Given the description of an element on the screen output the (x, y) to click on. 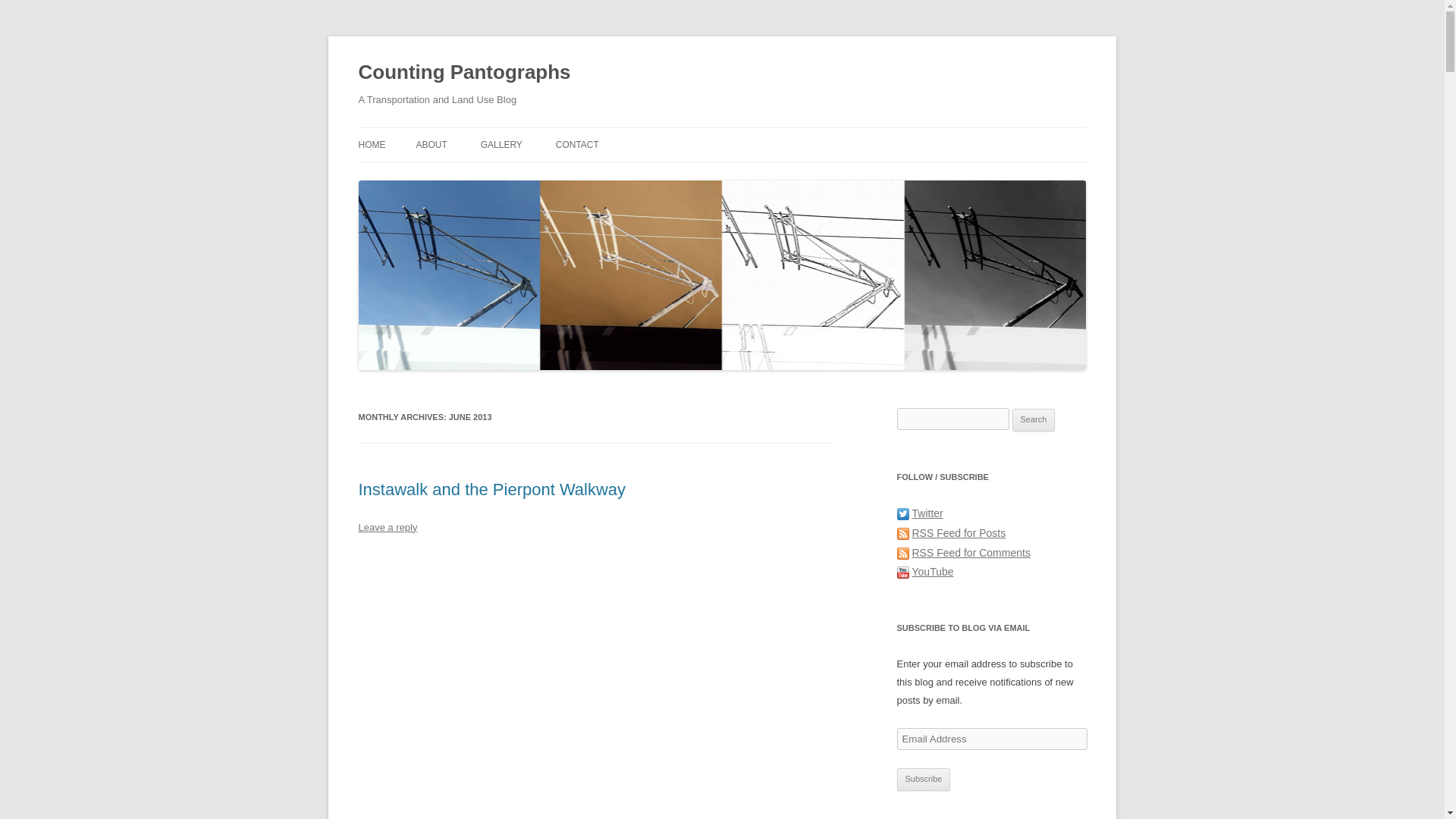
CONTACT (577, 144)
FUTURE IDEAS (555, 176)
Instawalk and the Pierpont Walkway (492, 488)
Subscribe (923, 779)
GALLERY (501, 144)
ABOUT (430, 144)
NARP FALL 2014 TRAVEL GUIDE (631, 176)
Counting Pantographs (464, 72)
Search (1033, 419)
Counting Pantographs (464, 72)
Leave a reply (387, 527)
